Given the description of an element on the screen output the (x, y) to click on. 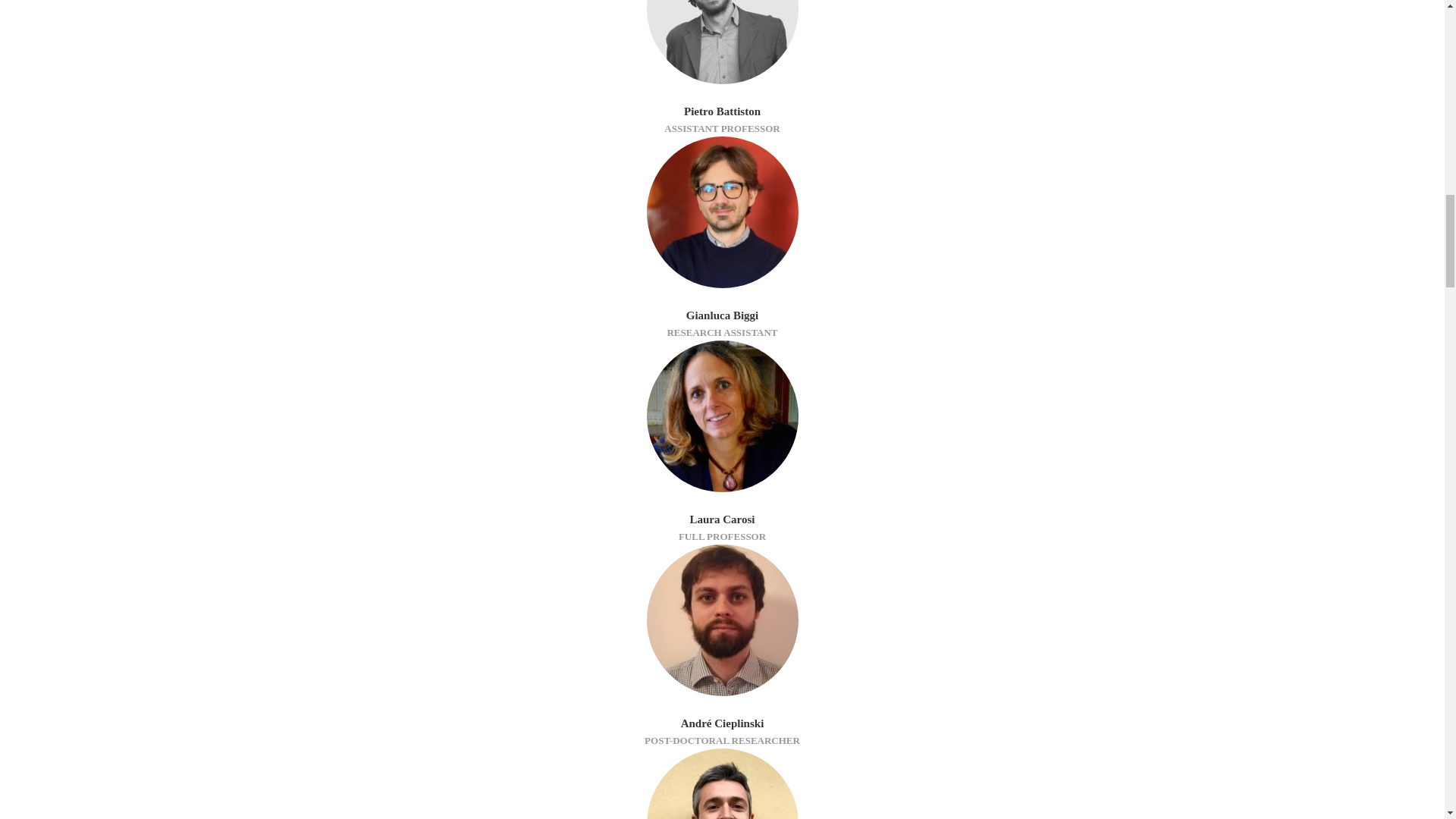
Versione 2 (721, 783)
mde (721, 620)
Screenshot 2022-10-03 at 17.12.27 (721, 212)
Laura-Carosi-foto-tessera (721, 416)
